Given the description of an element on the screen output the (x, y) to click on. 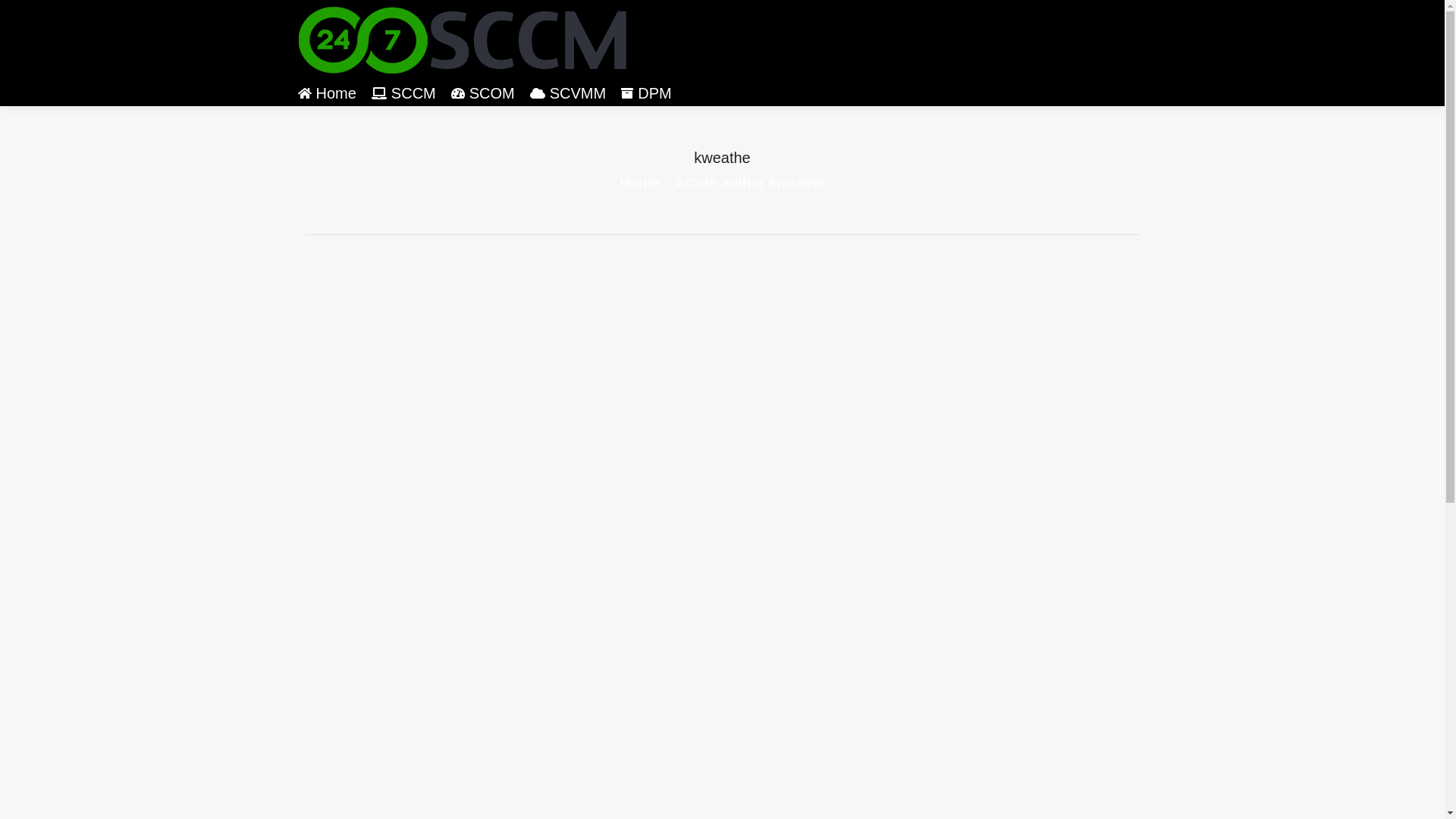
SCOM Element type: text (482, 93)
Home Element type: text (639, 182)
kweathe Element type: text (721, 156)
SCCM Element type: text (403, 93)
SCVMM Element type: text (567, 93)
DPM Element type: text (645, 93)
Home Element type: text (326, 93)
